Given the description of an element on the screen output the (x, y) to click on. 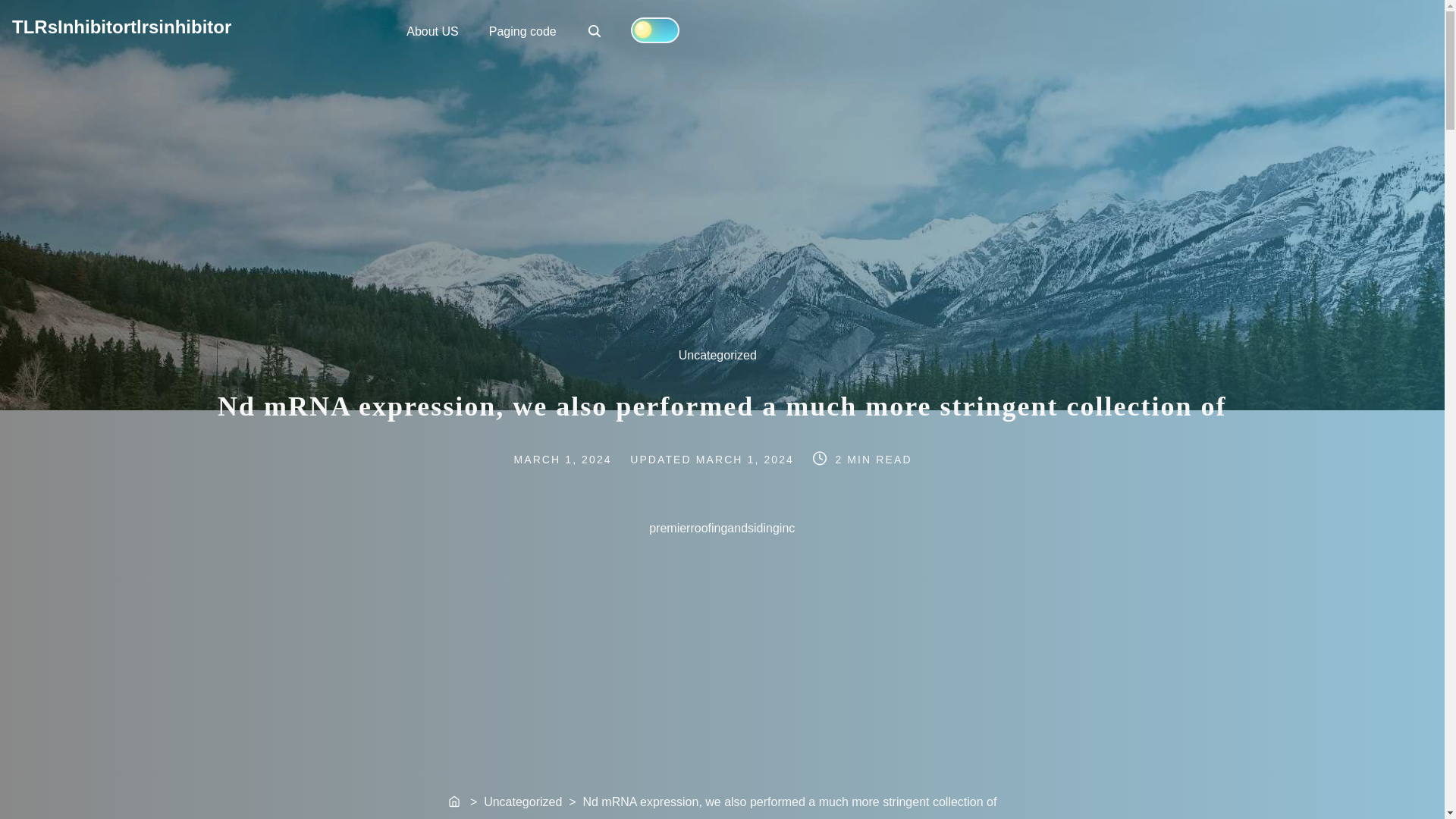
Uncategorized (724, 360)
MARCH 1, 2024 (745, 459)
About US (432, 30)
MARCH 1, 2024 (574, 459)
Paging code (523, 30)
Home (455, 802)
TLRsInhibitortlrsinhibitor (121, 26)
Search (596, 31)
